Given the description of an element on the screen output the (x, y) to click on. 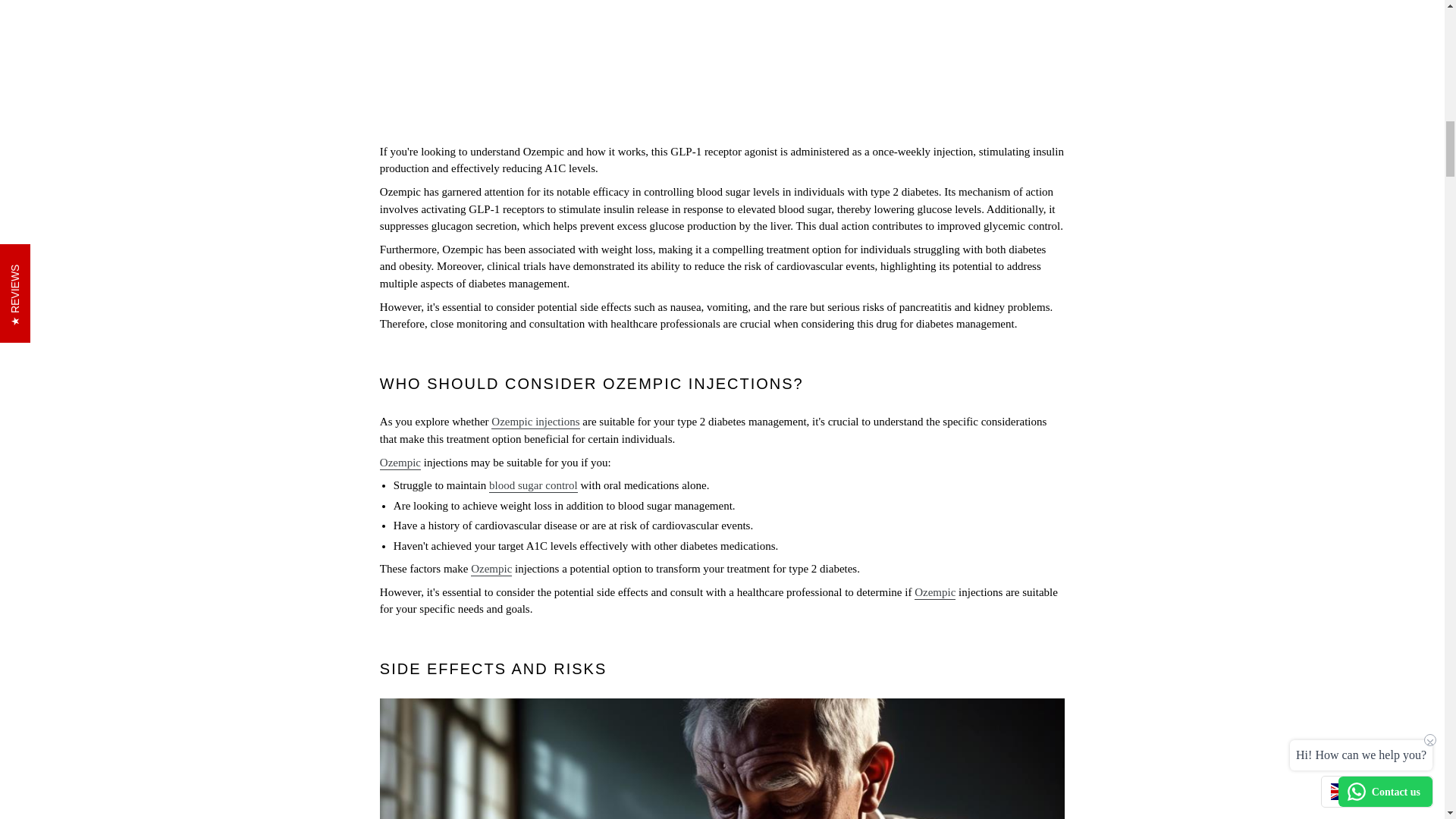
Ozempic (400, 463)
Ozempic (491, 569)
Ozempic (934, 592)
blood sugar control (533, 486)
YouTube video player (722, 63)
